Given the description of an element on the screen output the (x, y) to click on. 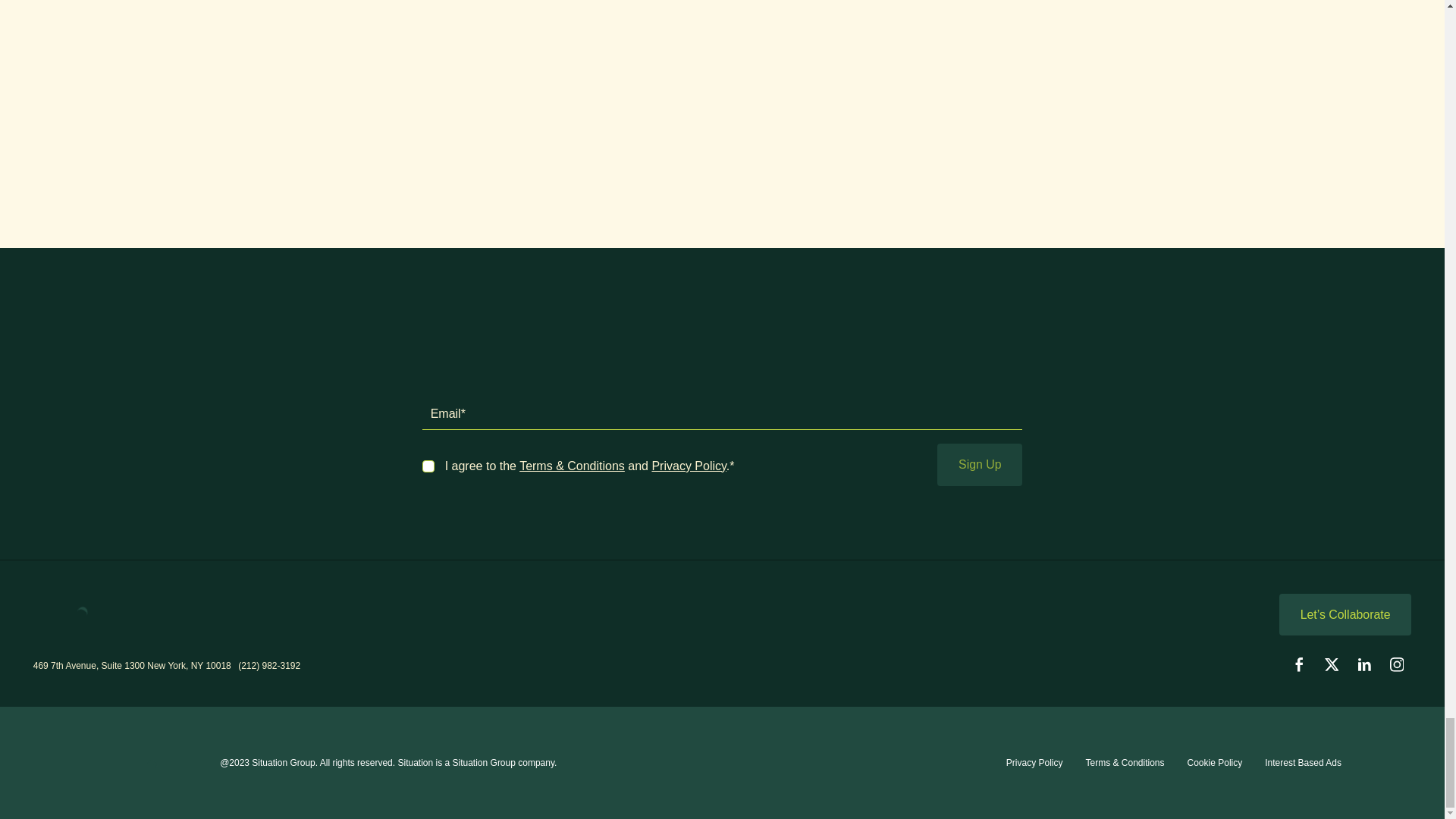
Privacy Policy (1034, 762)
Sign Up (979, 464)
Cookie Policy (1215, 762)
Privacy Policy (687, 465)
Interest Based Ads (1302, 762)
Sign Up (979, 464)
